Given the description of an element on the screen output the (x, y) to click on. 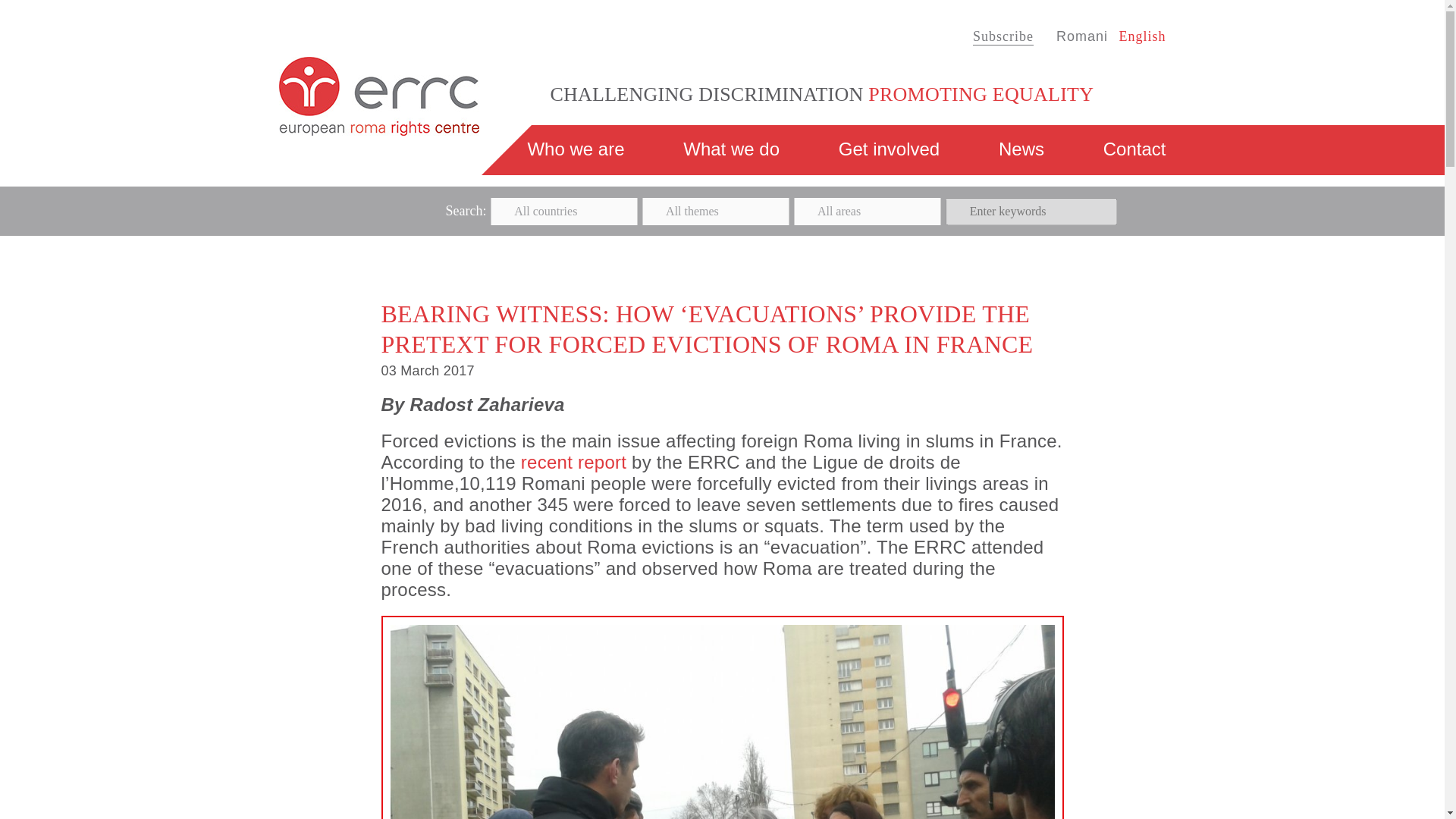
Contact (1134, 148)
Who we are (575, 148)
Subscribe (1002, 36)
News (1020, 148)
Romani (1082, 36)
recent report (573, 462)
English (1142, 36)
What we do (730, 148)
Get involved (888, 148)
